Given the description of an element on the screen output the (x, y) to click on. 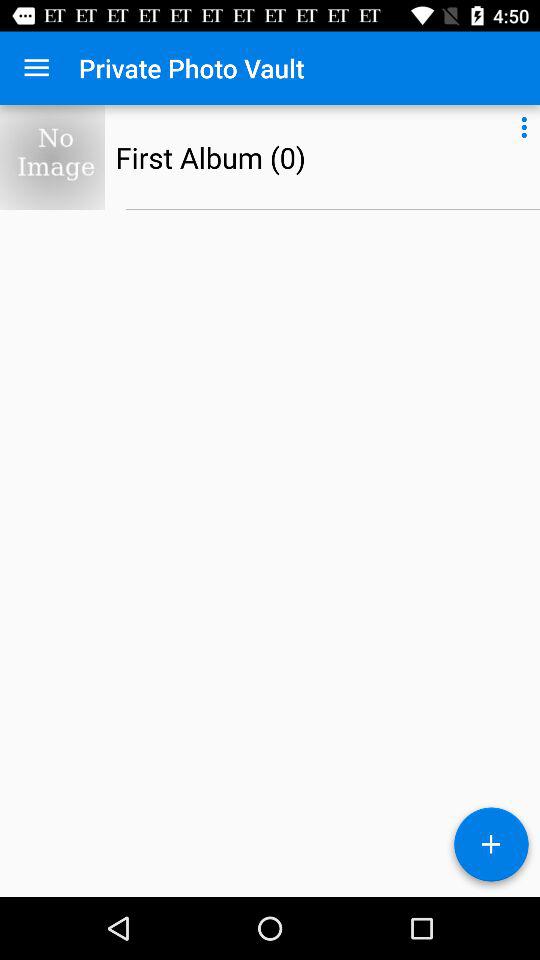
select item next to first album (0) (524, 124)
